Given the description of an element on the screen output the (x, y) to click on. 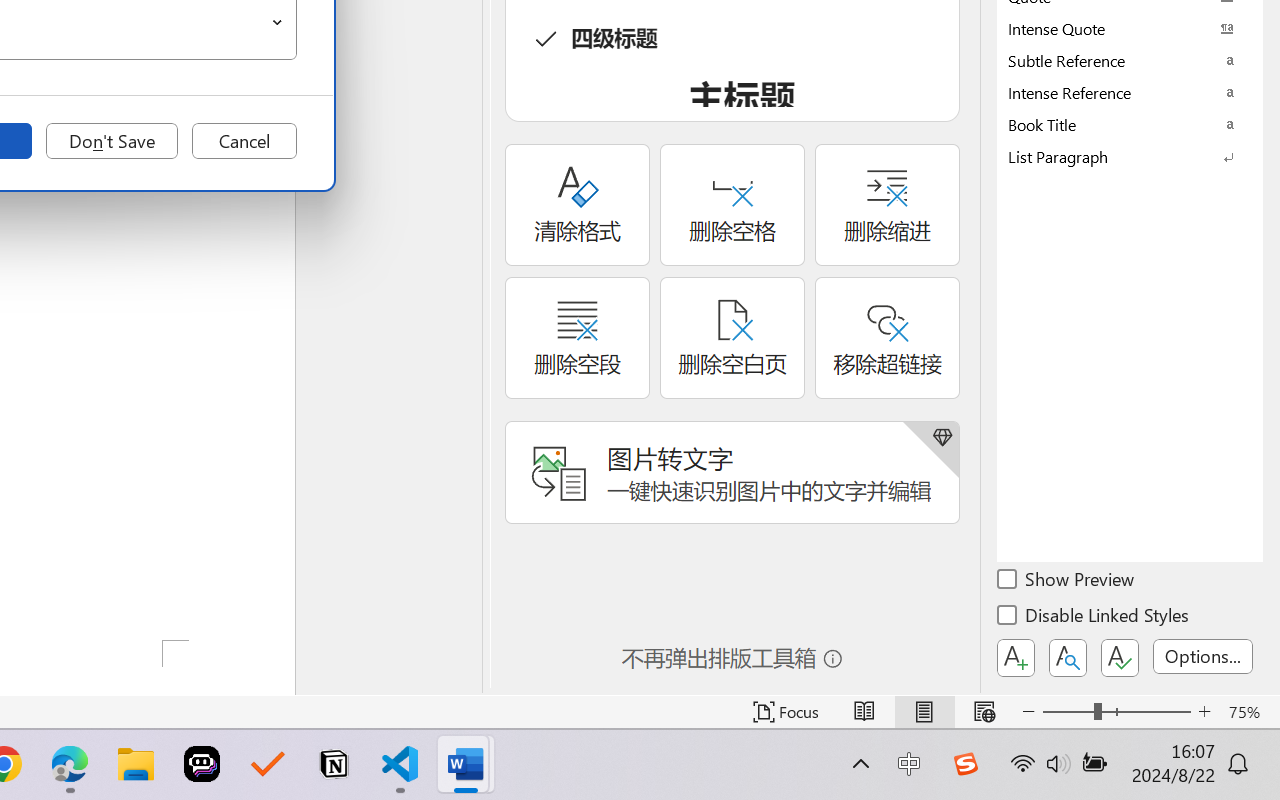
Cancel (244, 141)
Options... (1203, 656)
Class: NetUIImage (1116, 156)
Class: Image (965, 764)
